Given the description of an element on the screen output the (x, y) to click on. 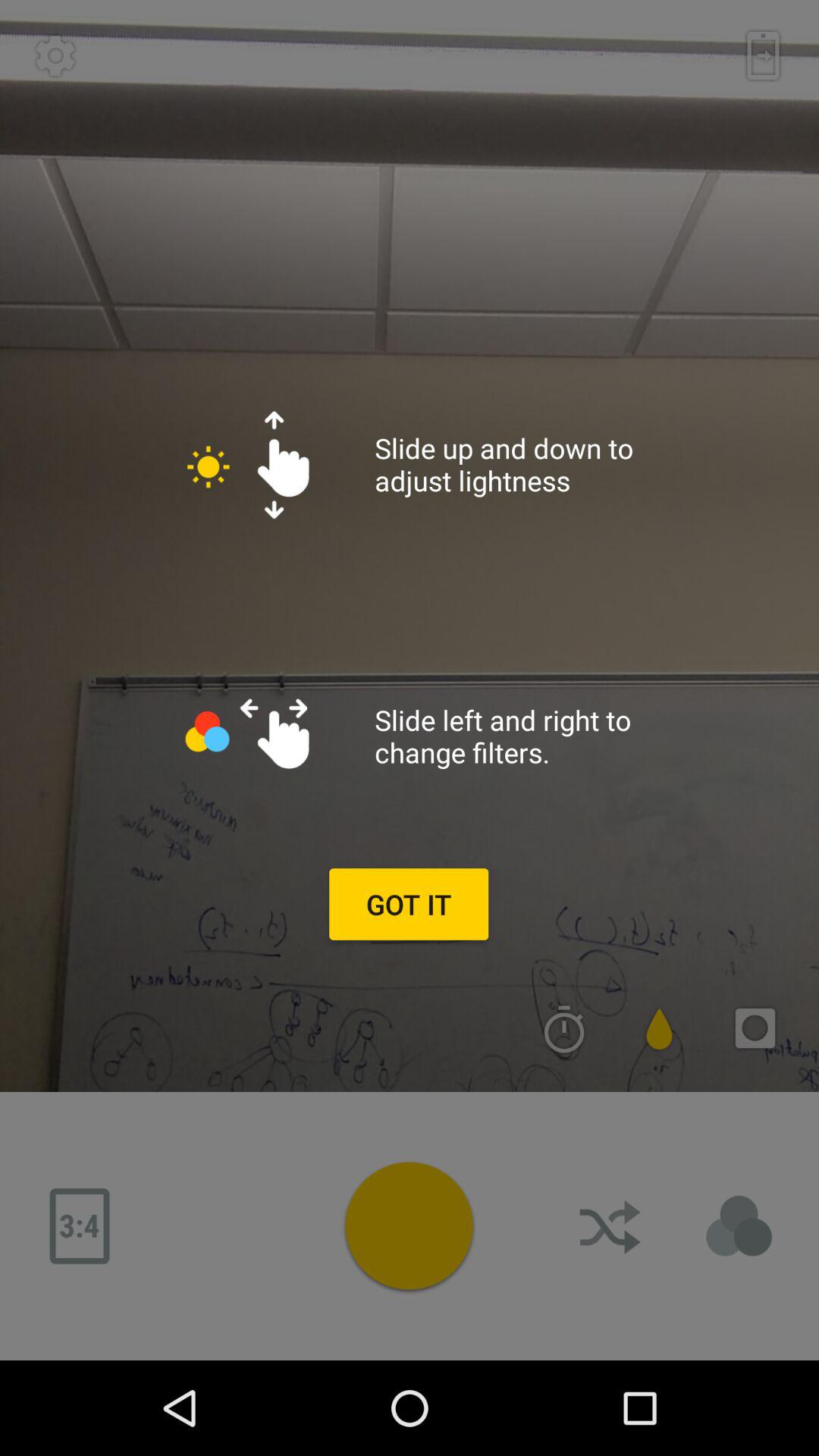
setting (55, 55)
